Given the description of an element on the screen output the (x, y) to click on. 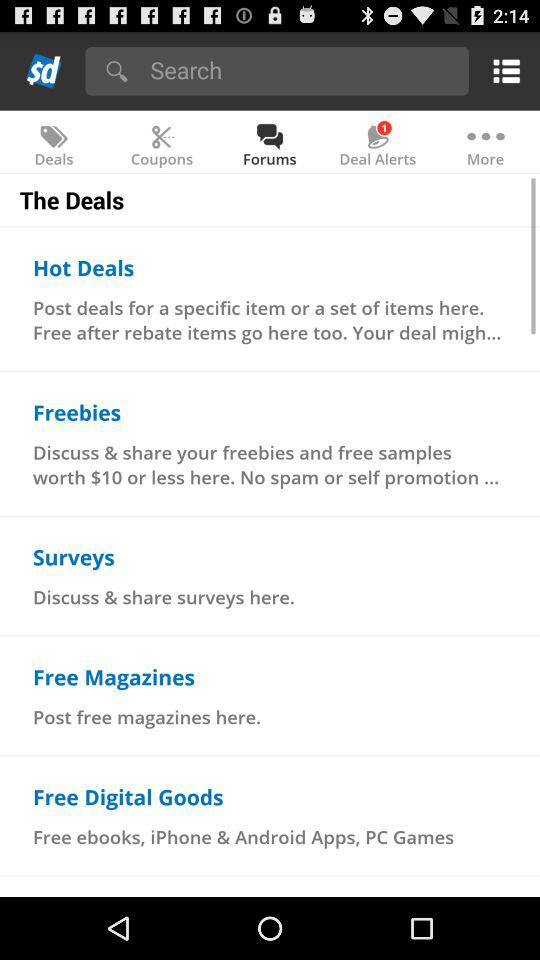
tap item below free digital goods icon (243, 836)
